Given the description of an element on the screen output the (x, y) to click on. 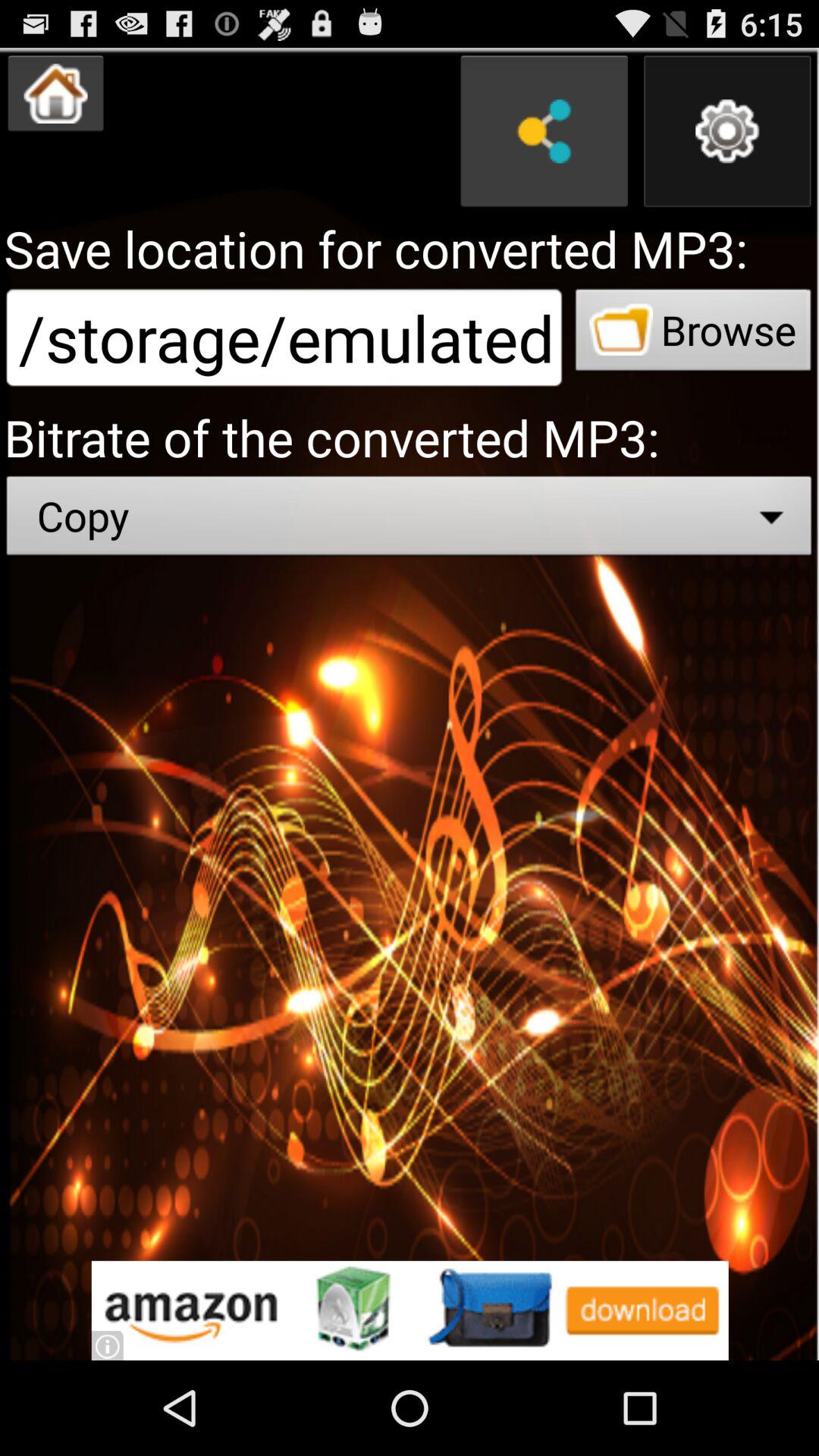
share (543, 130)
